Given the description of an element on the screen output the (x, y) to click on. 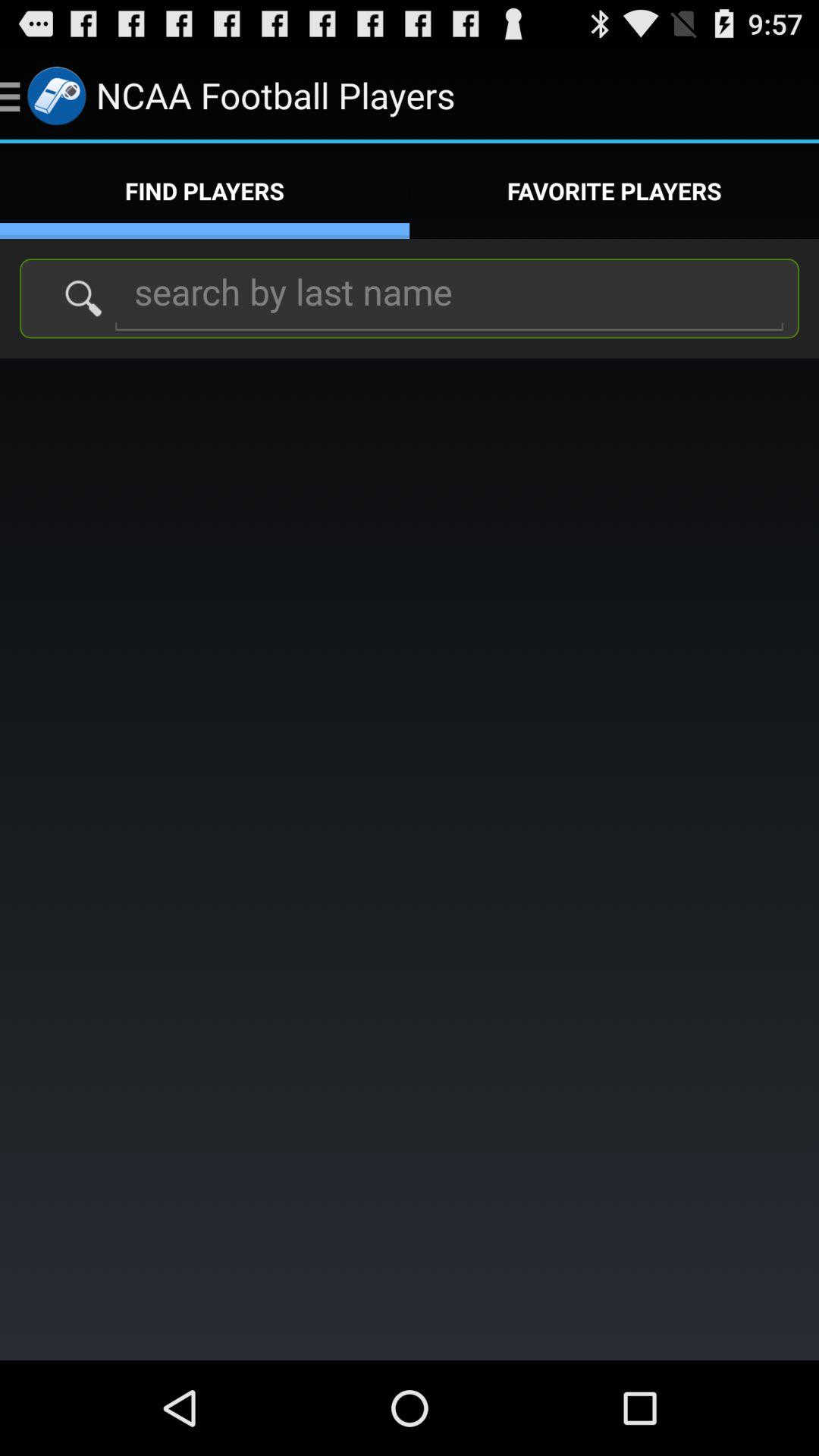
turn on the icon next to find players app (614, 190)
